Given the description of an element on the screen output the (x, y) to click on. 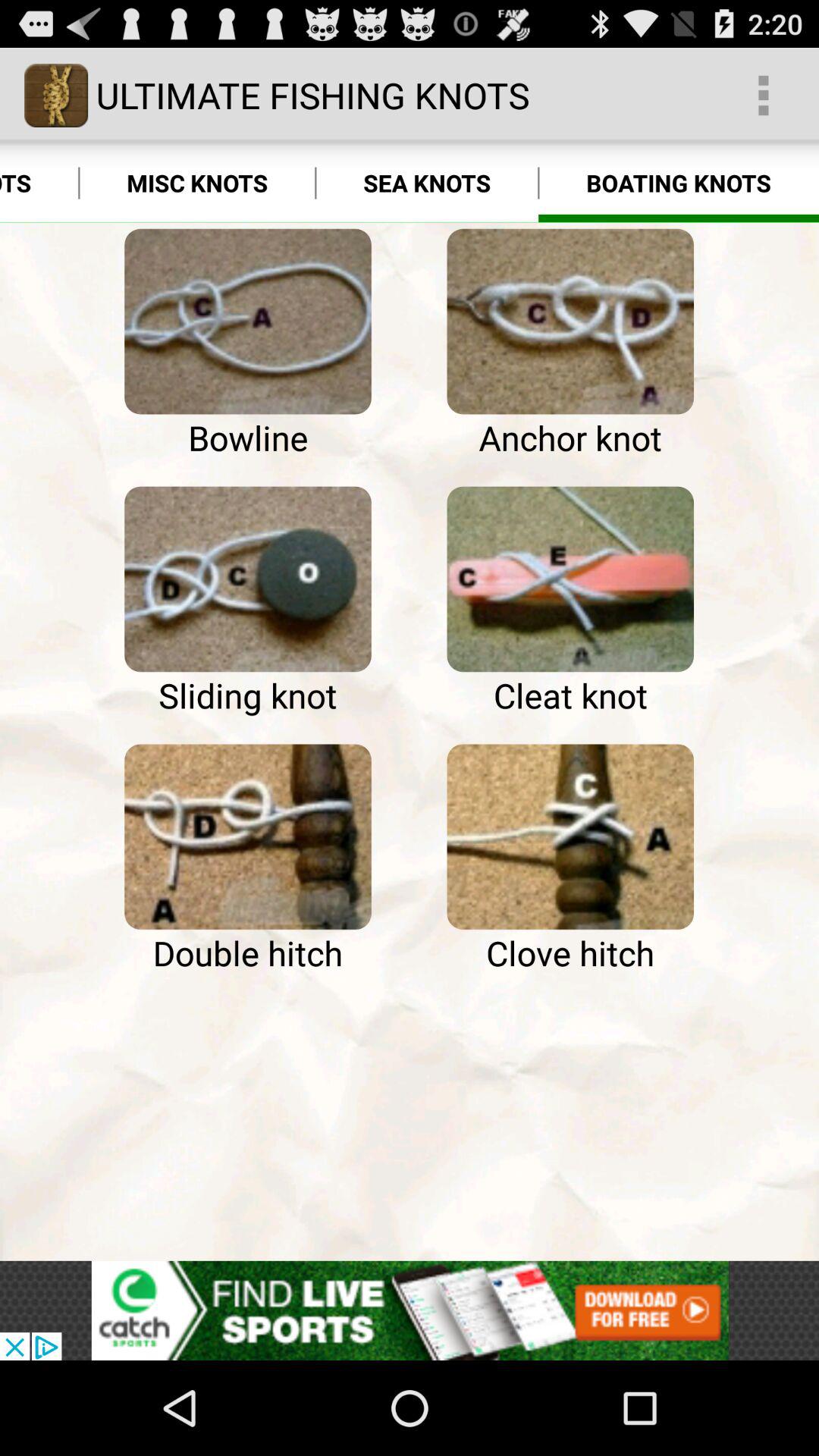
advertisement (409, 1310)
